Given the description of an element on the screen output the (x, y) to click on. 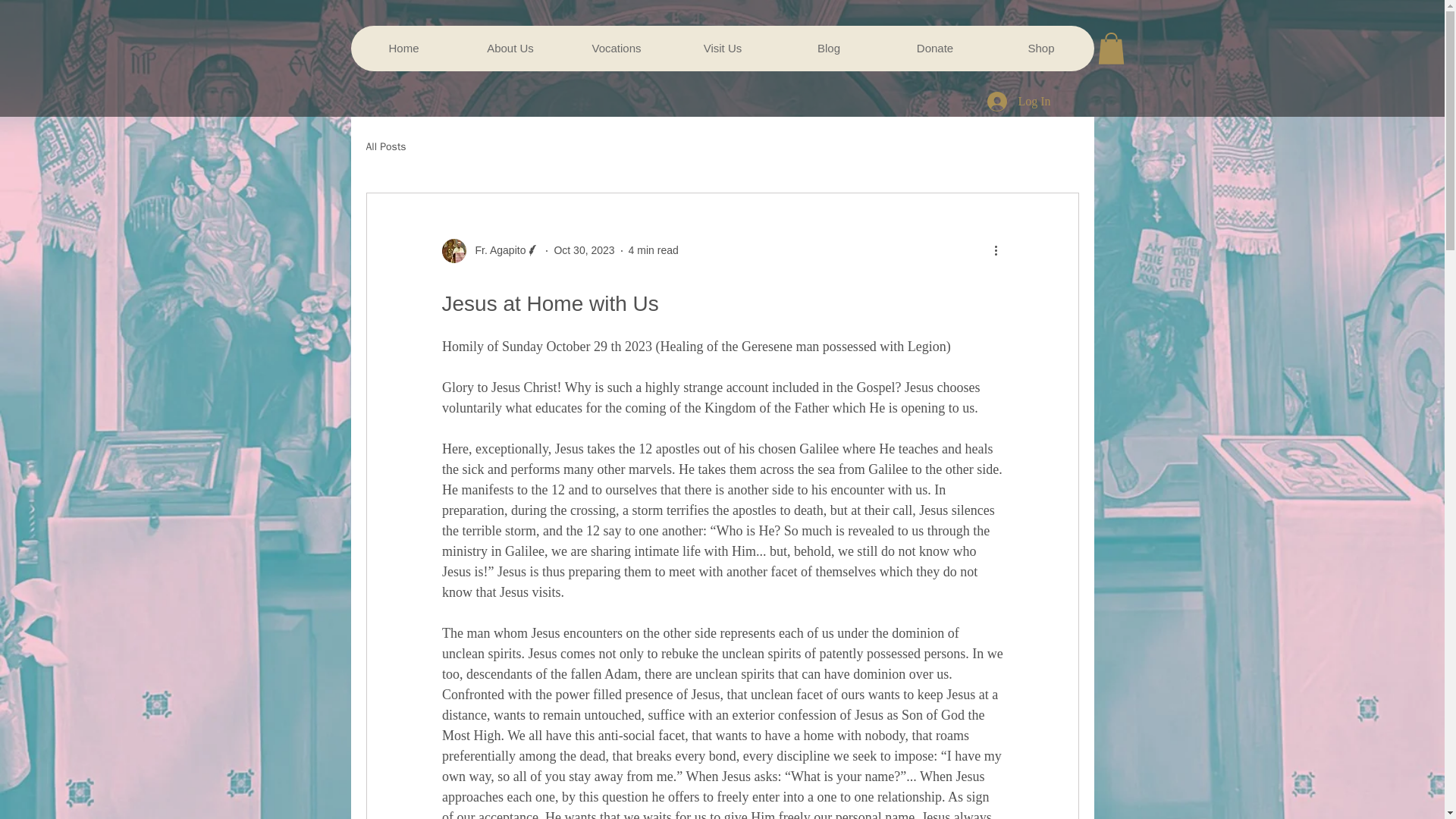
Visit Us (721, 48)
4 min read (653, 250)
About Us (509, 48)
All Posts (385, 146)
Shop (1040, 48)
Home (403, 48)
Fr. Agapito (490, 250)
Oct 30, 2023 (583, 250)
Fr. Agapito (495, 250)
Log In (1018, 101)
Blog (827, 48)
Donate (933, 48)
Vocations (615, 48)
